Given the description of an element on the screen output the (x, y) to click on. 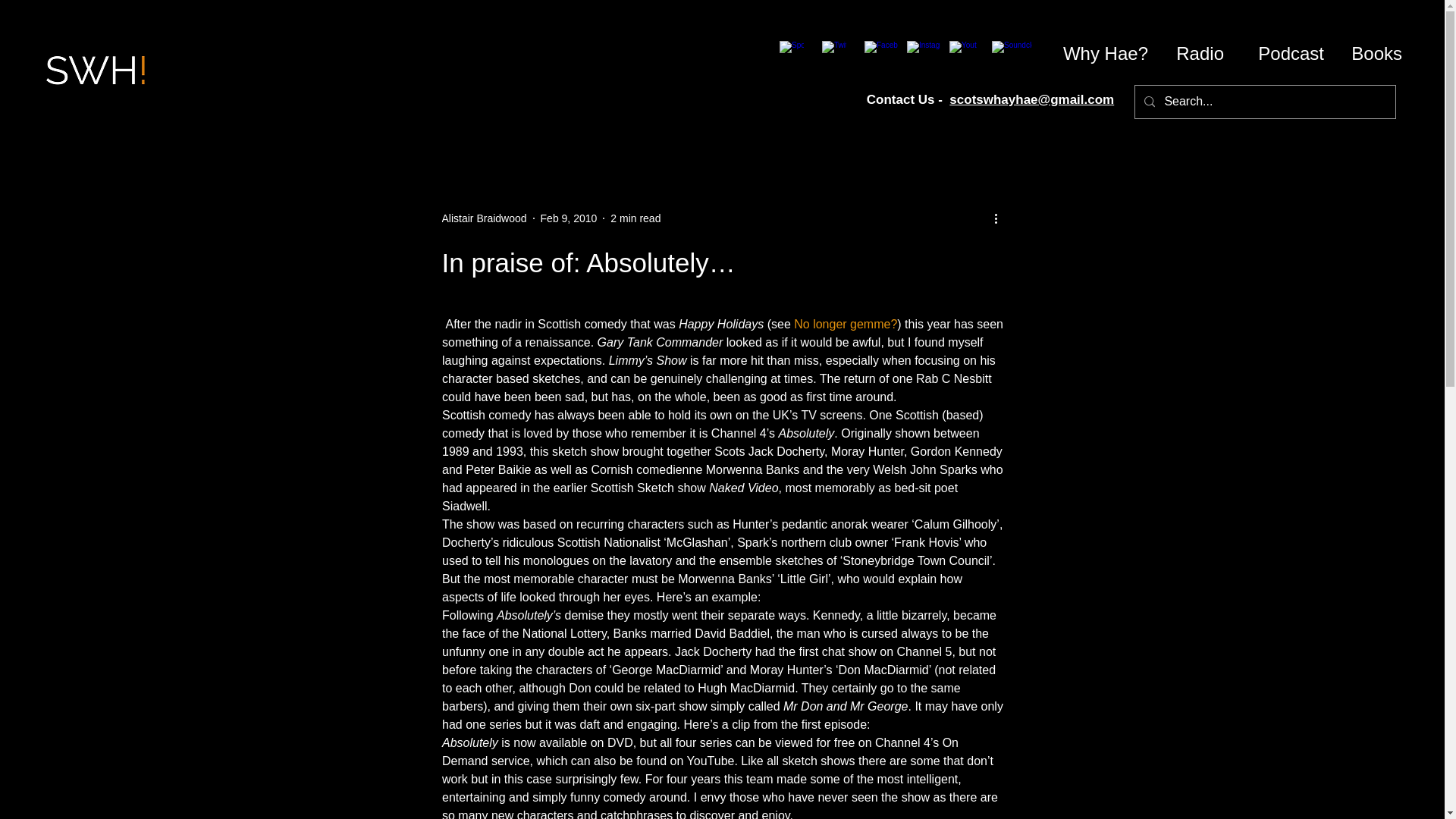
Contact Us -   (908, 99)
Feb 9, 2010 (568, 218)
Alistair Braidwood (483, 218)
2 min read (635, 218)
No longer gemme? (844, 323)
Why Hae? (1100, 52)
